Given the description of an element on the screen output the (x, y) to click on. 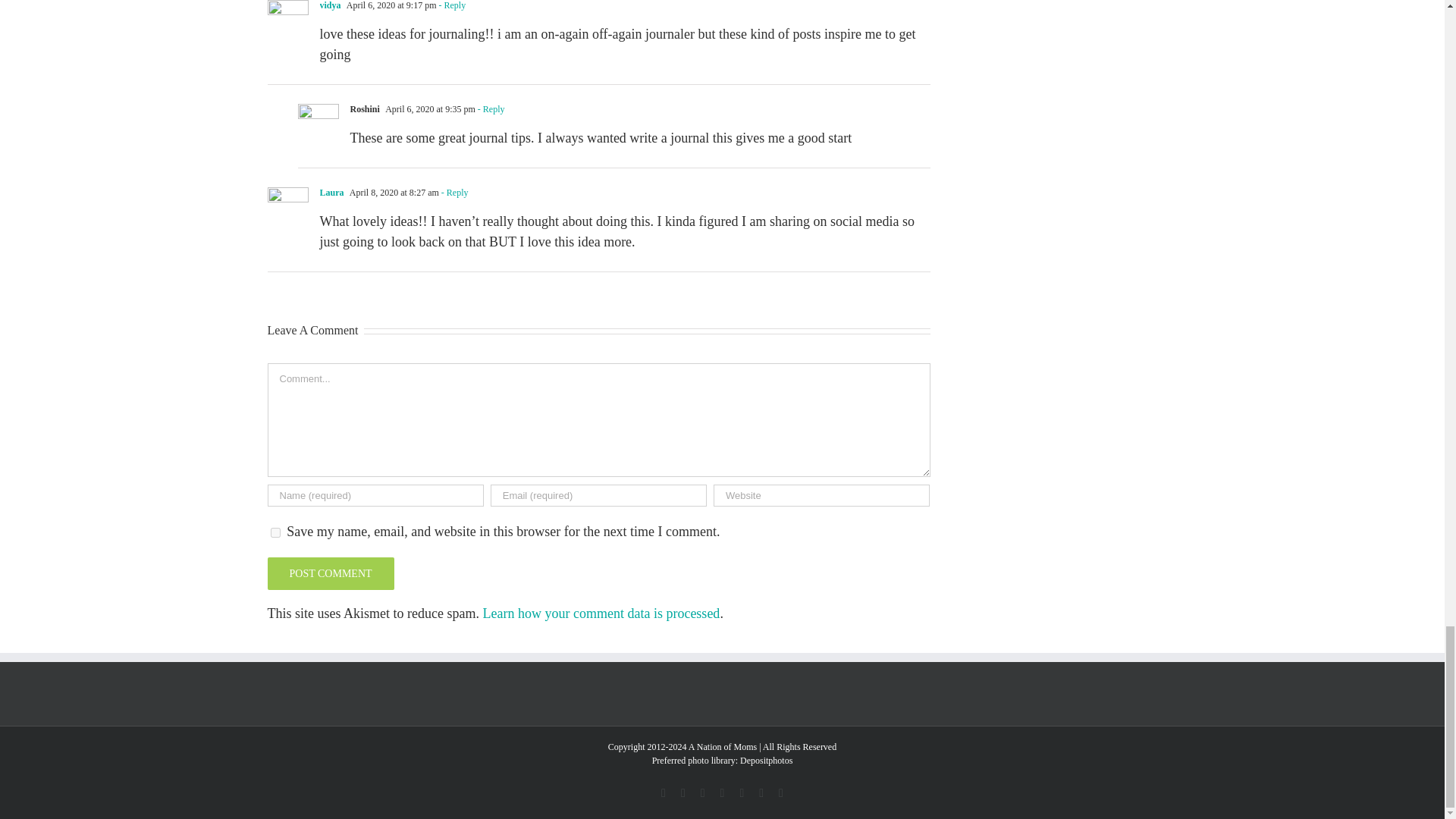
yes (274, 532)
Post Comment (329, 573)
